Given the description of an element on the screen output the (x, y) to click on. 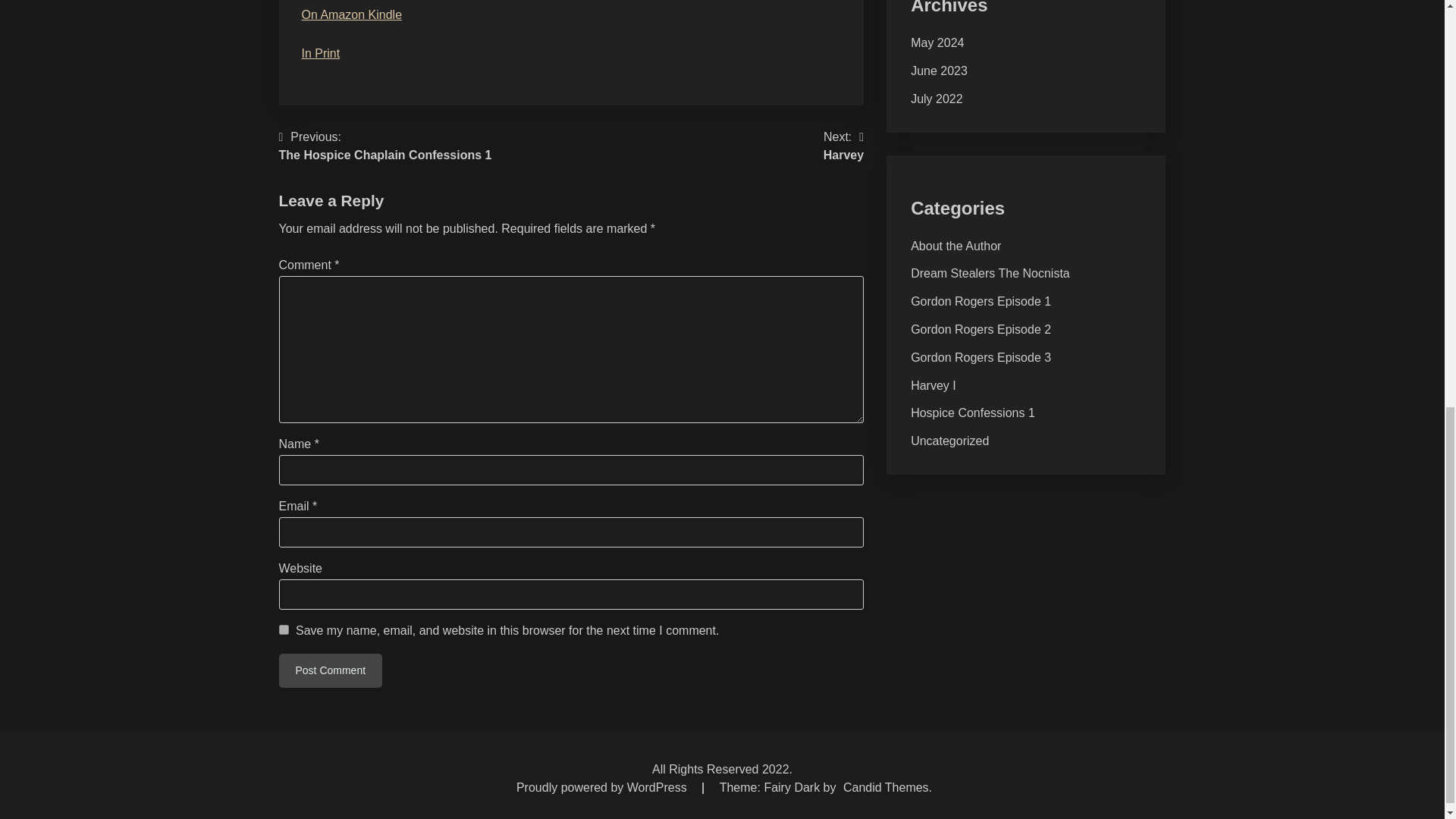
yes (283, 629)
Post Comment (330, 670)
